Given the description of an element on the screen output the (x, y) to click on. 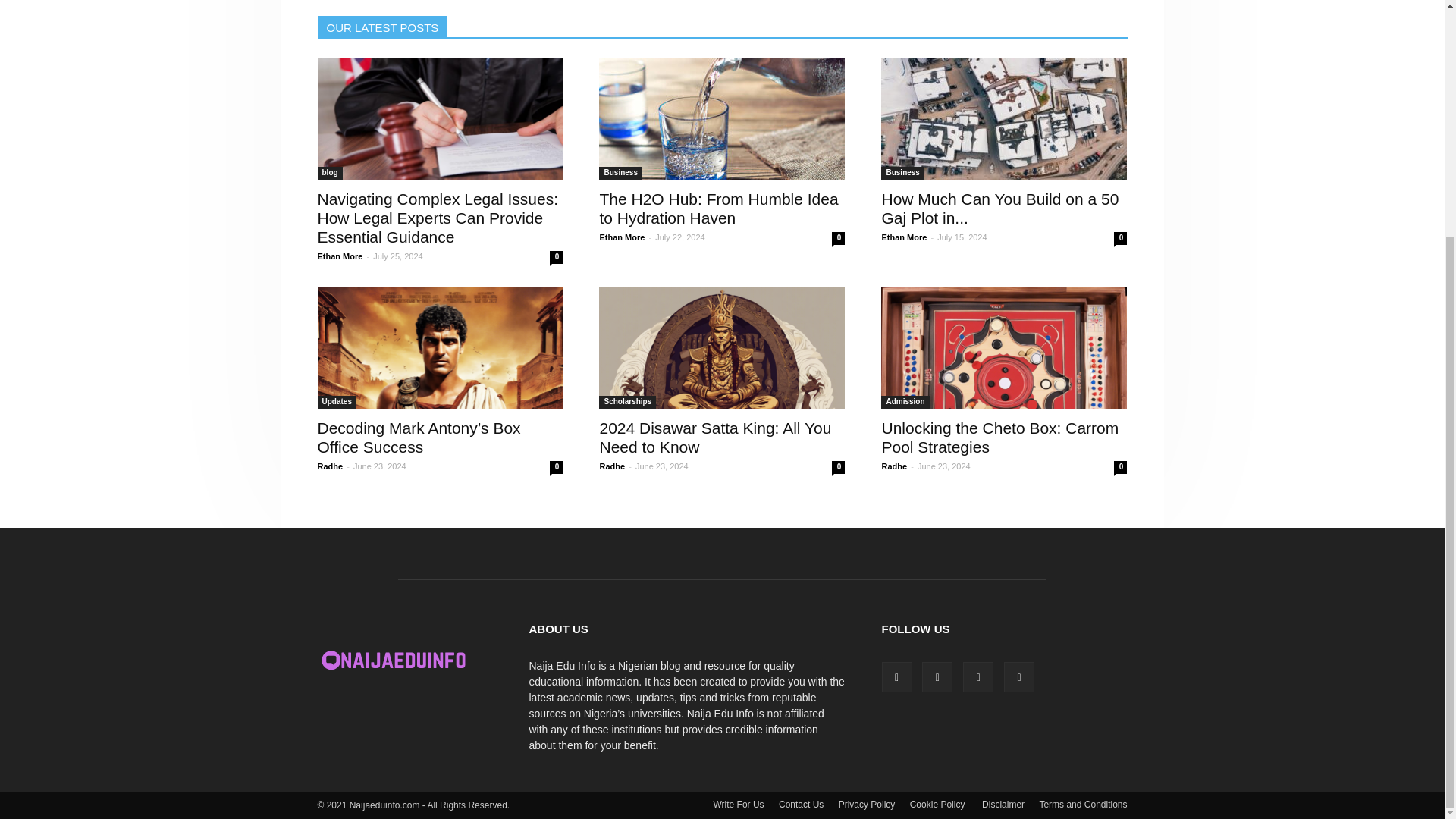
blog (329, 173)
How Much Can You Build on a 50 Gaj Plot in Delhi? (999, 208)
The H2O Hub: From Humble Idea to Hydration Haven (721, 118)
Business (901, 173)
The H2O Hub: From Humble Idea to Hydration Haven (718, 208)
How Much Can You Build on a 50 Gaj Plot in Delhi? (1003, 118)
Business (620, 173)
0 (837, 237)
Ethan More (339, 256)
Ethan More (621, 236)
0 (556, 256)
The H2O Hub: From Humble Idea to Hydration Haven (718, 208)
